Given the description of an element on the screen output the (x, y) to click on. 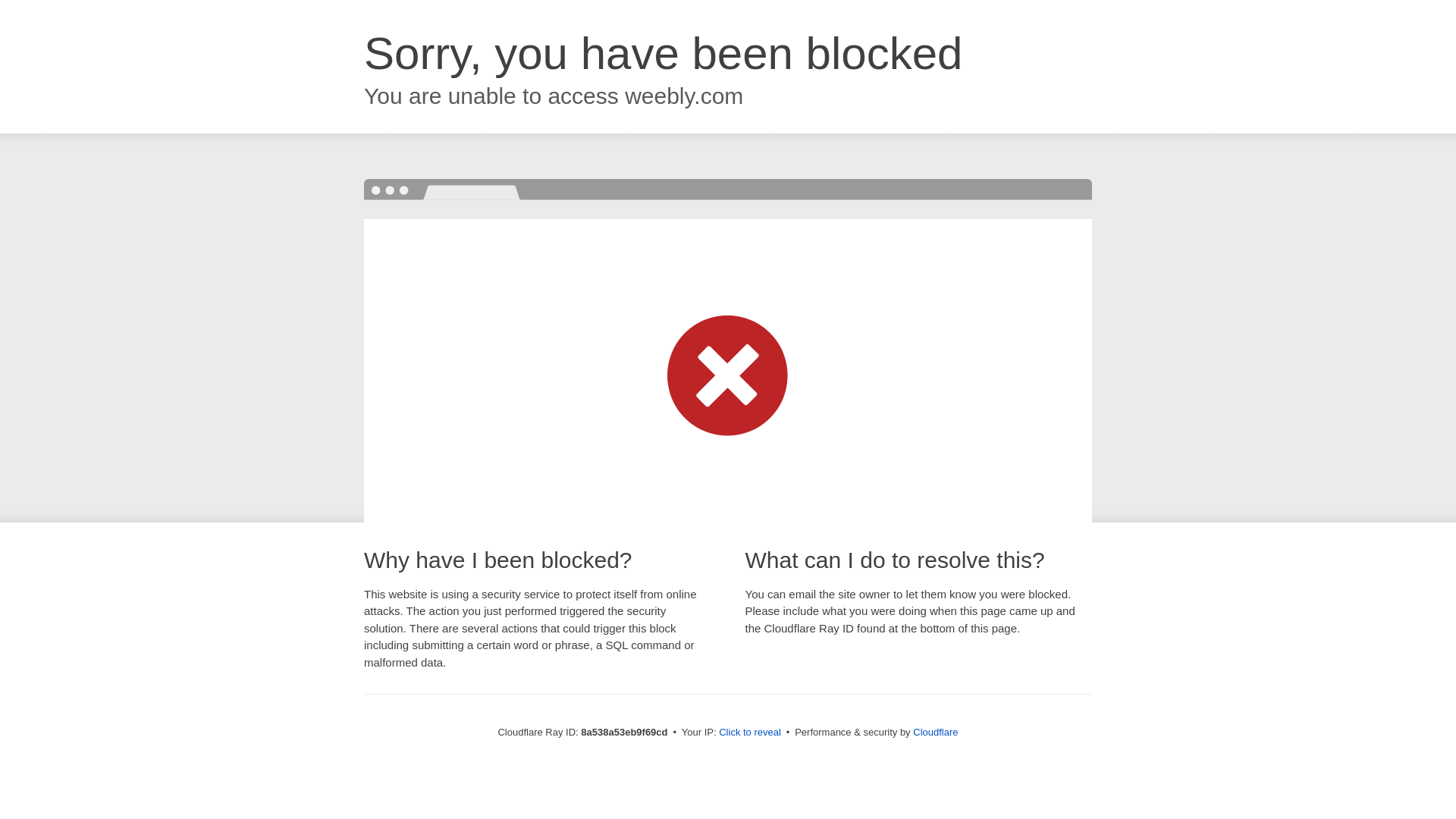
Cloudflare (935, 731)
Click to reveal (749, 732)
